Given the description of an element on the screen output the (x, y) to click on. 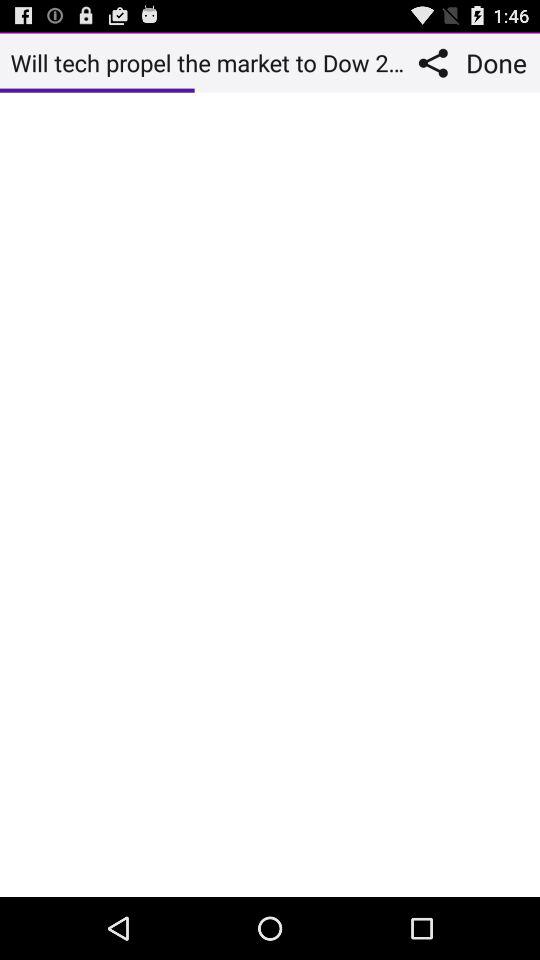
choose app next to the done item (438, 62)
